Given the description of an element on the screen output the (x, y) to click on. 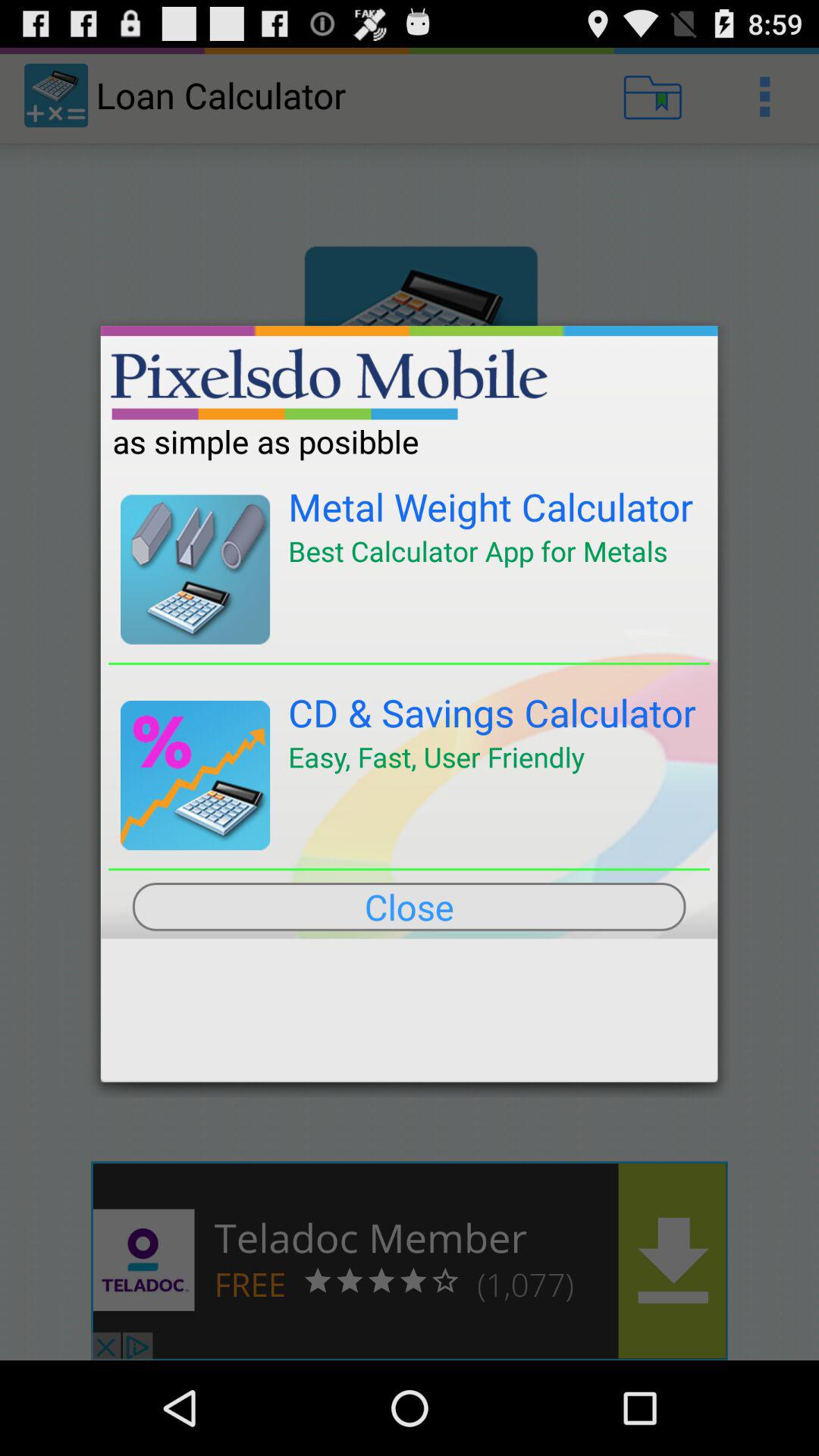
open item above close icon (408, 869)
